Given the description of an element on the screen output the (x, y) to click on. 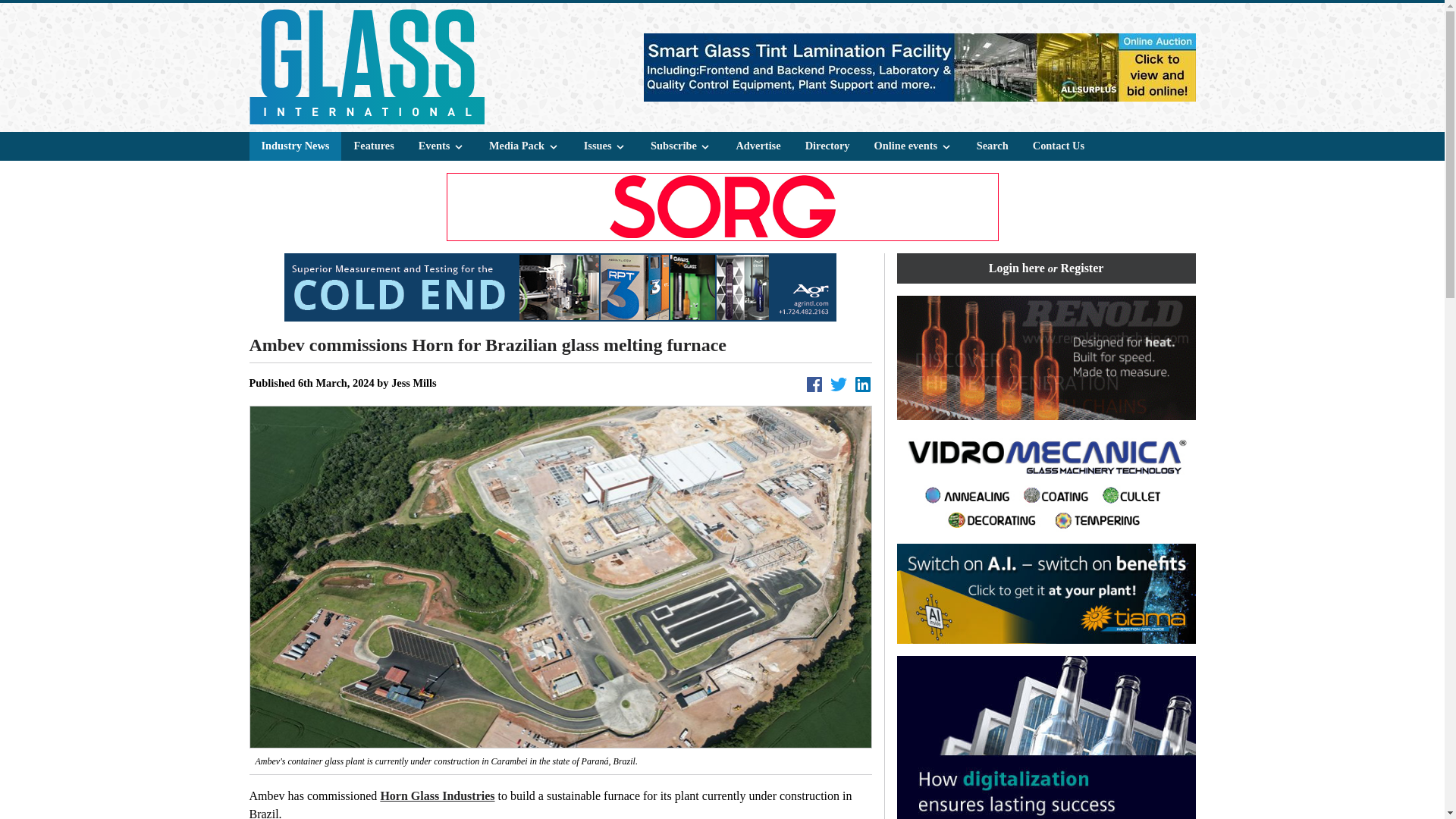
Online events (912, 146)
Media Pack (524, 145)
Share on LinkedIn (862, 384)
Events (441, 146)
Subscribe (680, 146)
Directory (827, 145)
Siemens (1045, 737)
Share on Twitter (838, 384)
tiama (1045, 592)
Events (441, 145)
Vidromecanica (1045, 481)
Media Pack (524, 146)
Subscribe (681, 145)
AGR (559, 287)
Advertise (757, 145)
